Given the description of an element on the screen output the (x, y) to click on. 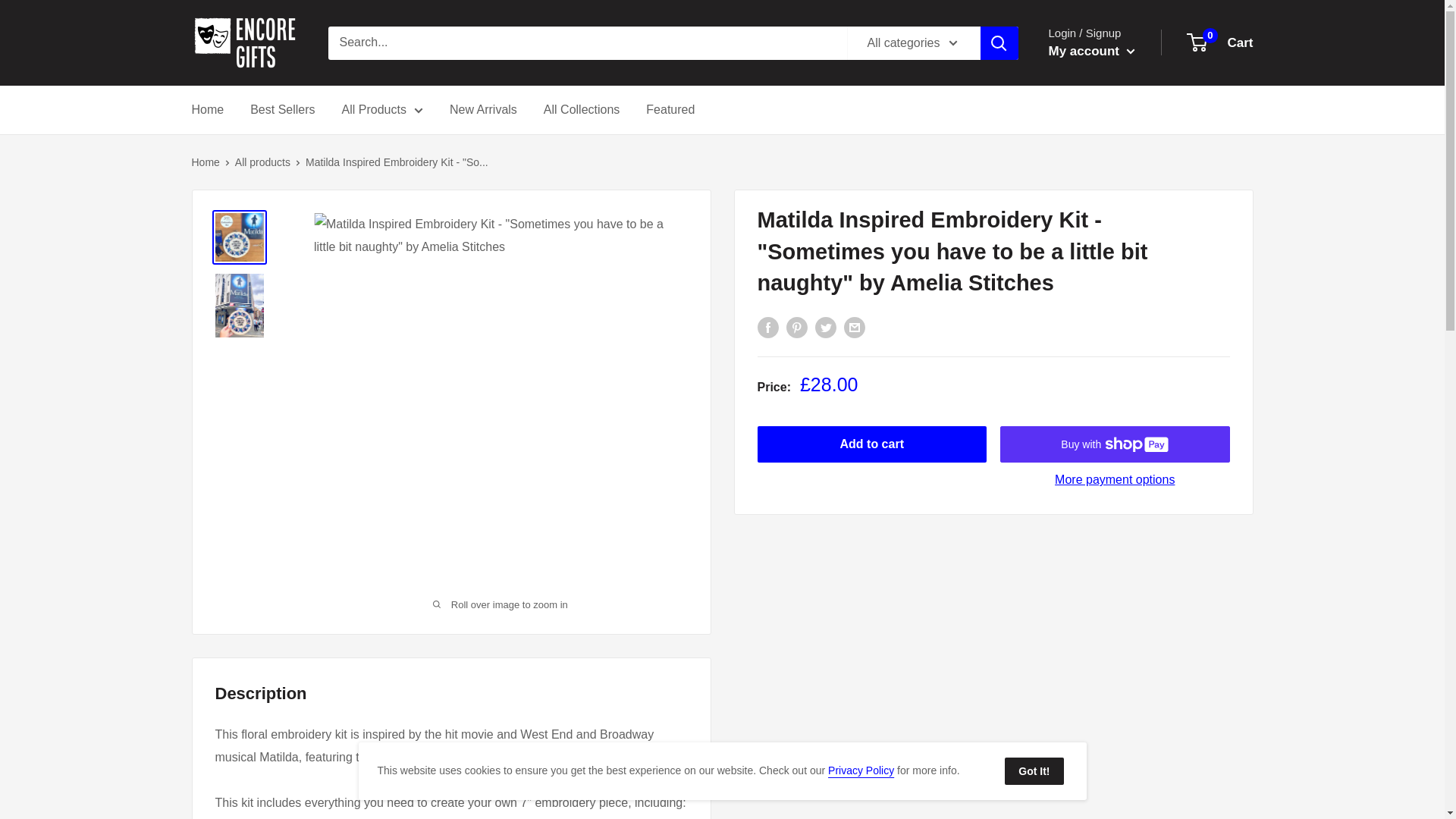
Privacy Policy (860, 770)
